Given the description of an element on the screen output the (x, y) to click on. 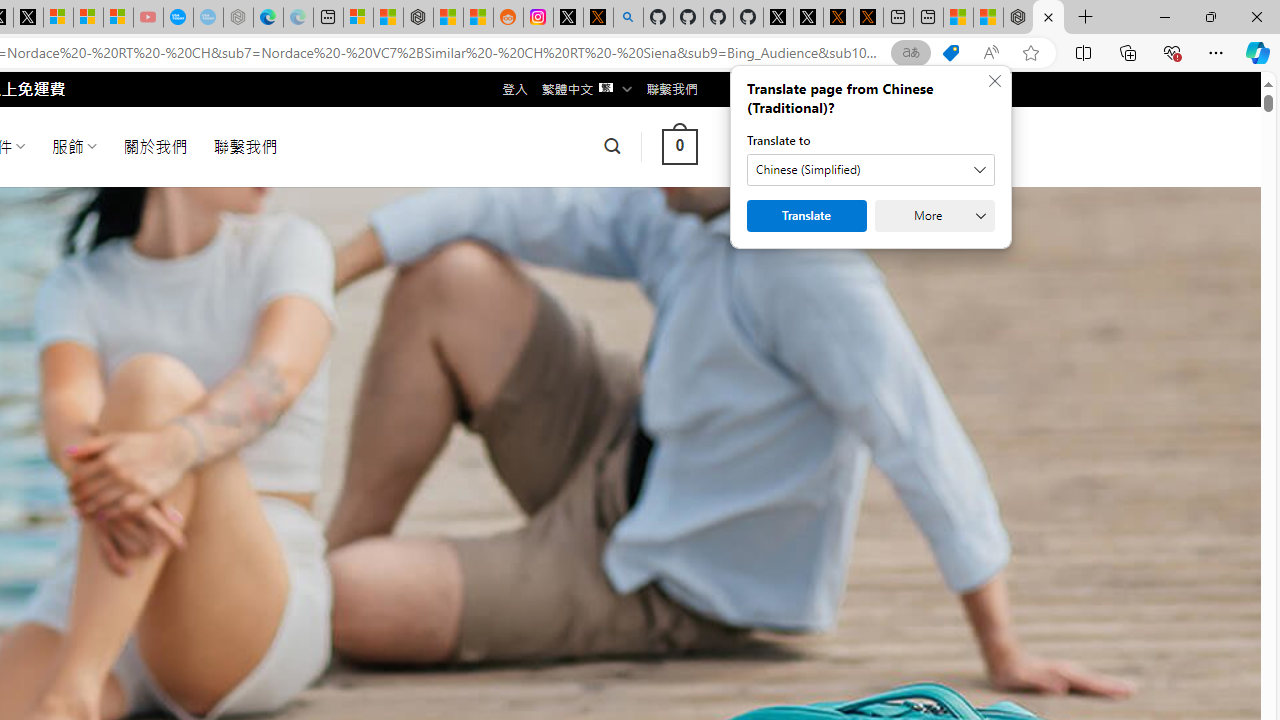
GitHub (@github) / X (808, 17)
Nordace - Duffels (418, 17)
Log in to X / X (568, 17)
